Given the description of an element on the screen output the (x, y) to click on. 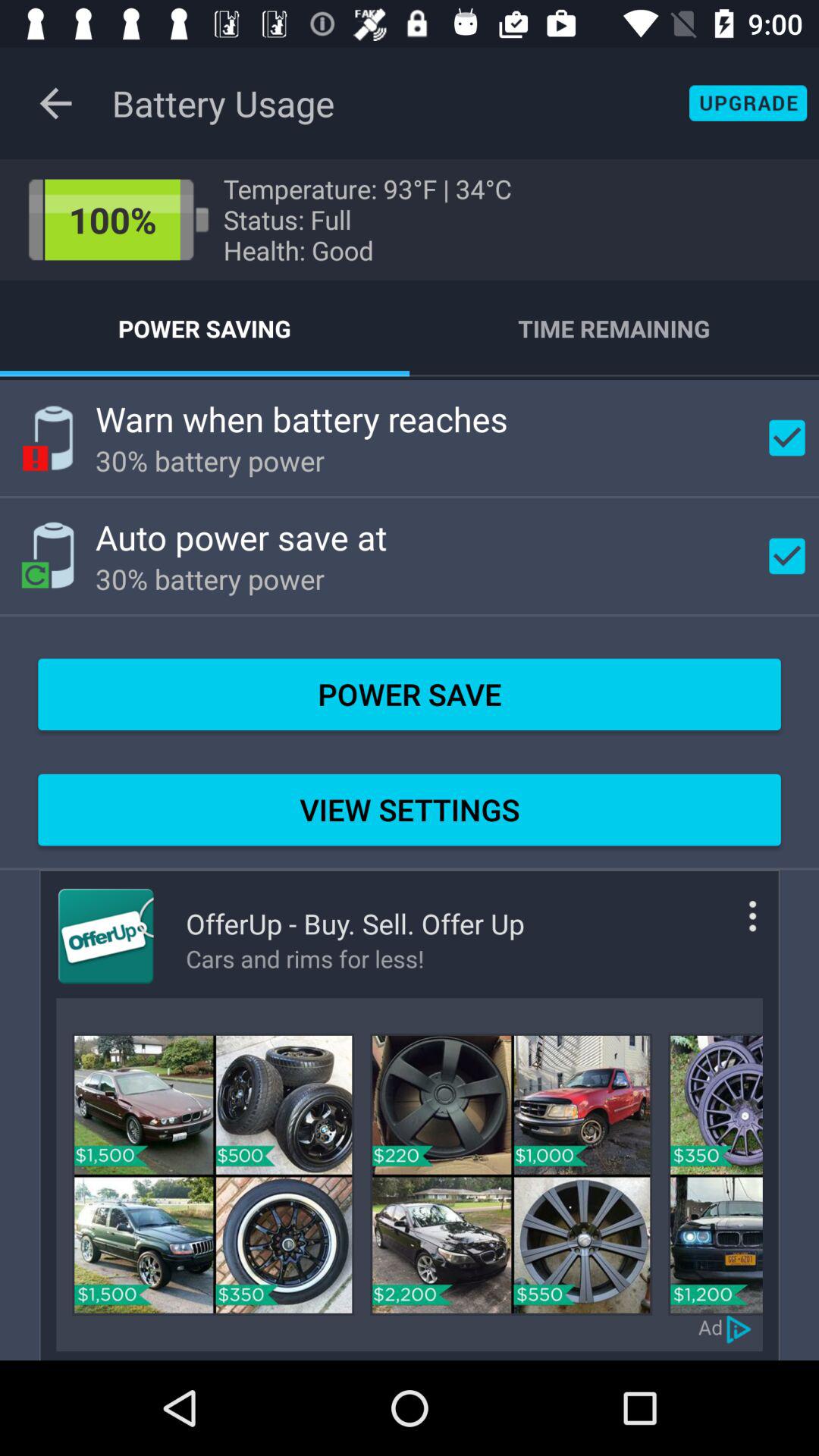
upgrade (748, 103)
